Given the description of an element on the screen output the (x, y) to click on. 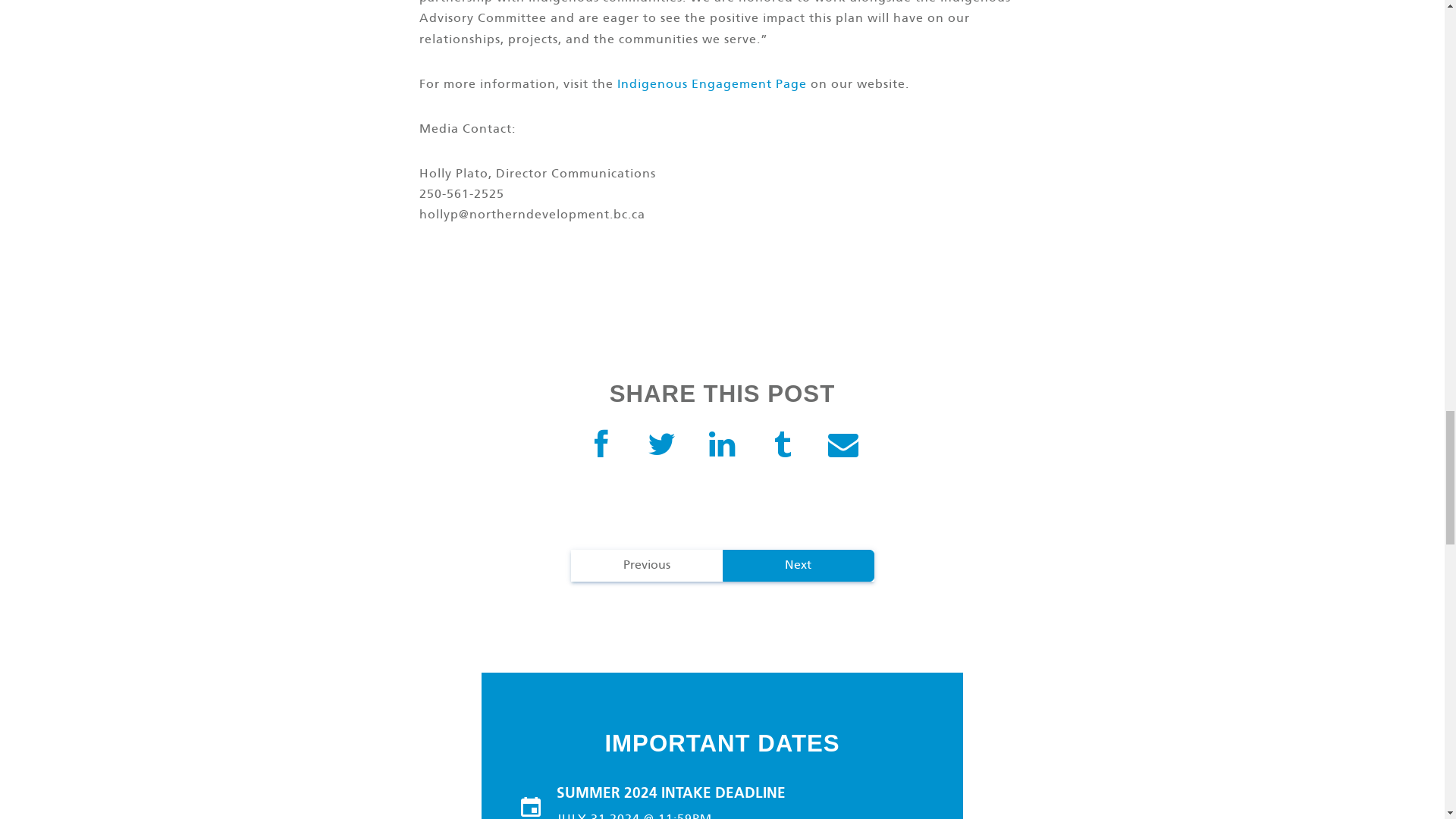
Share by email (843, 446)
Share on Tumblr (782, 446)
Share on Linkedin (721, 446)
Previous (646, 565)
Next (797, 565)
SUMMER 2024 INTAKE DEADLINE (741, 793)
Indigenous Engagement Page (711, 84)
Share on Facebook (600, 446)
Share on Twitter (661, 446)
